Given the description of an element on the screen output the (x, y) to click on. 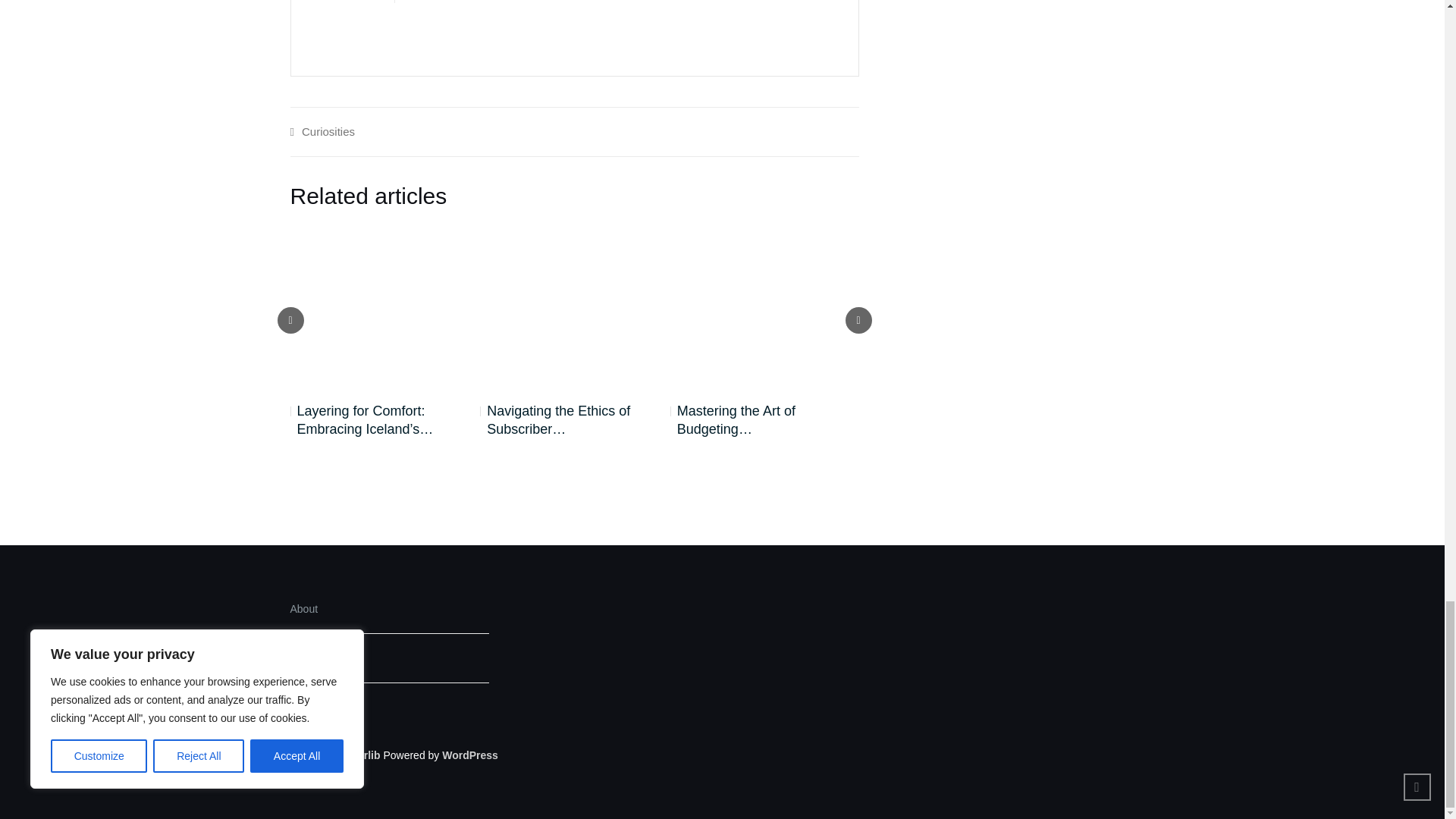
Colorlib (360, 755)
WordPress.org (469, 755)
Curiosities (328, 131)
